Given the description of an element on the screen output the (x, y) to click on. 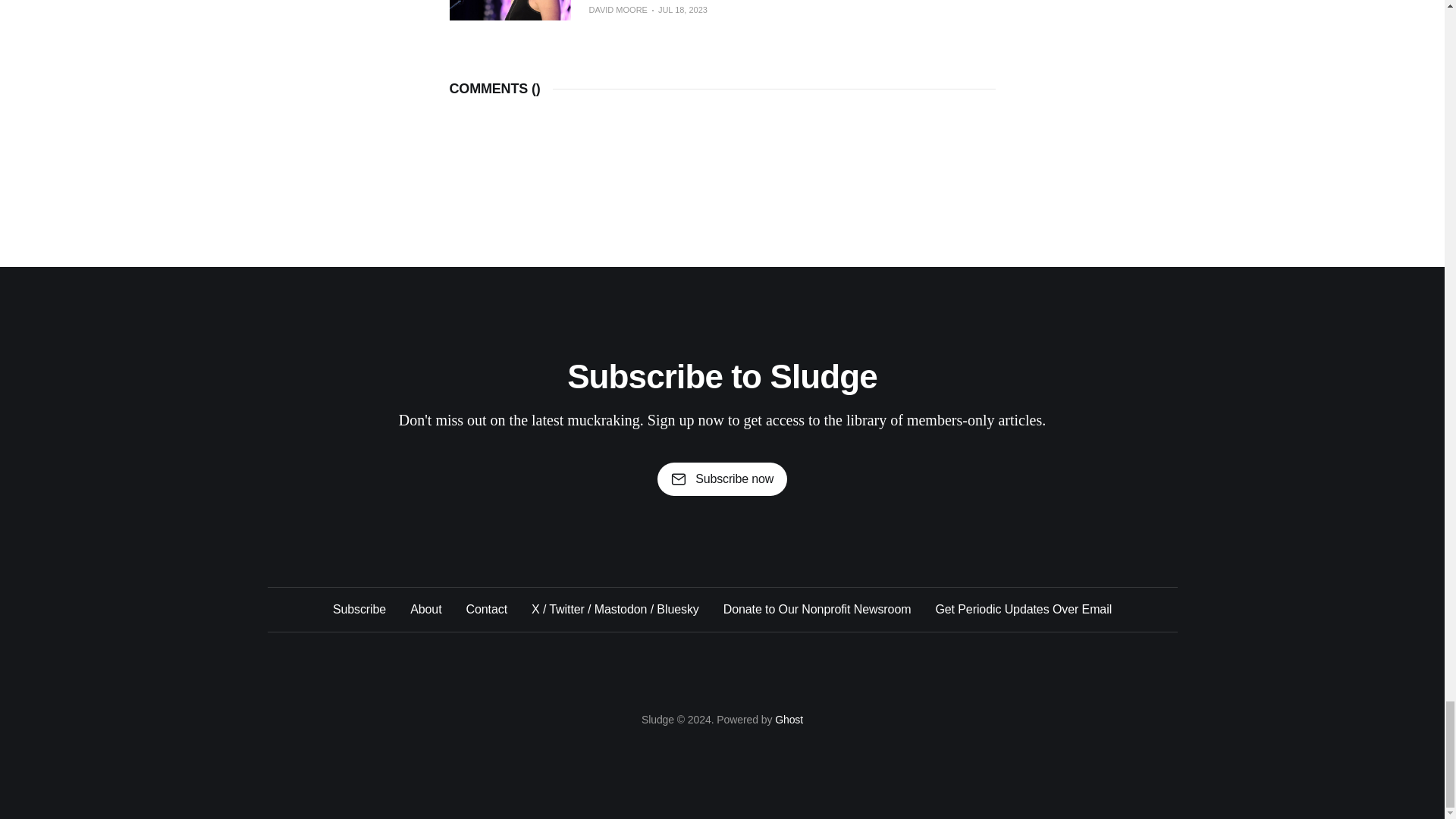
Donate to Our Nonprofit Newsroom (817, 609)
Ghost (788, 719)
Get Periodic Updates Over Email (1023, 609)
Subscribe (359, 609)
Contact (485, 609)
About (425, 609)
Subscribe now (722, 479)
